Given the description of an element on the screen output the (x, y) to click on. 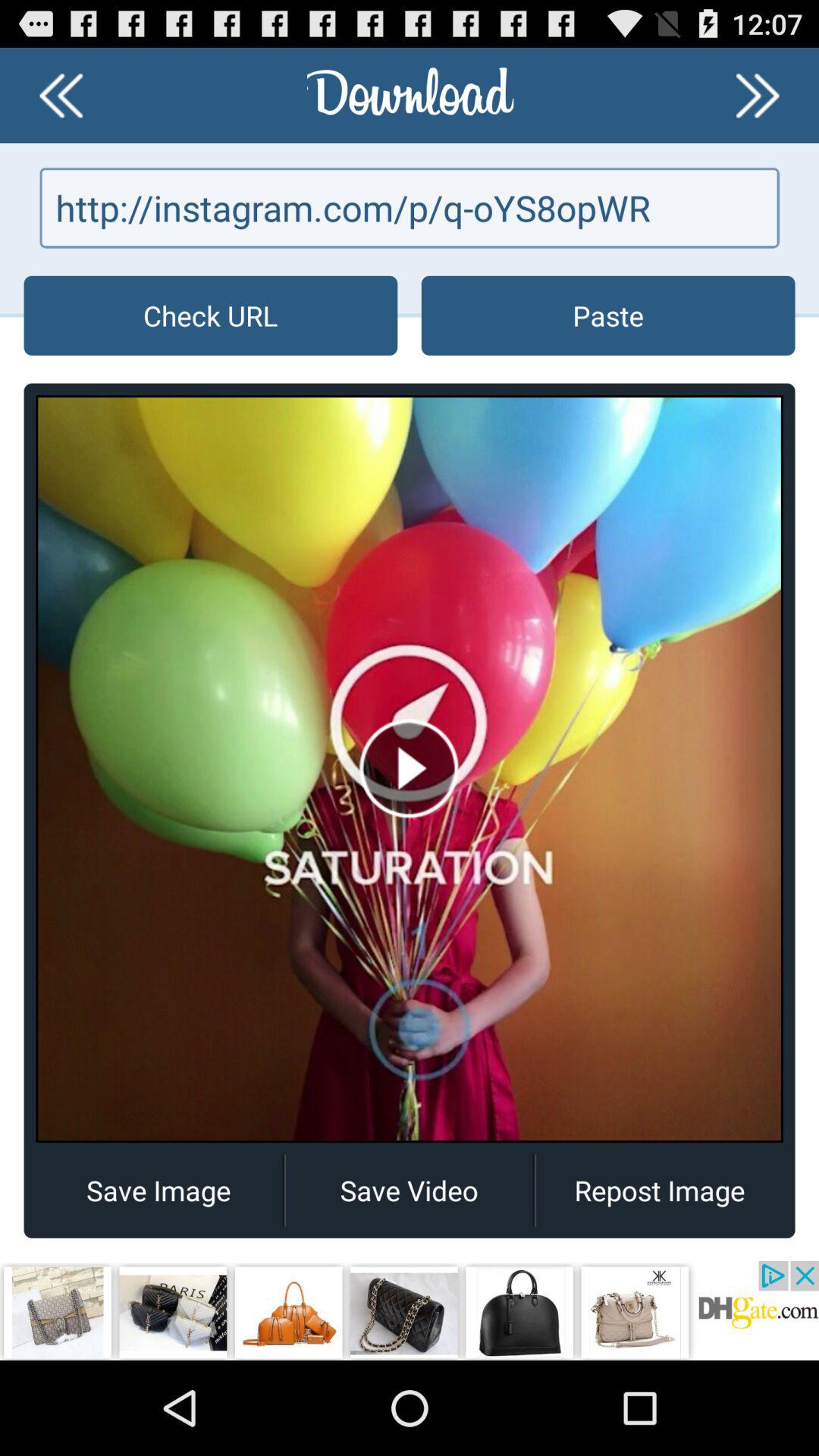
advertisement (409, 1310)
